Given the description of an element on the screen output the (x, y) to click on. 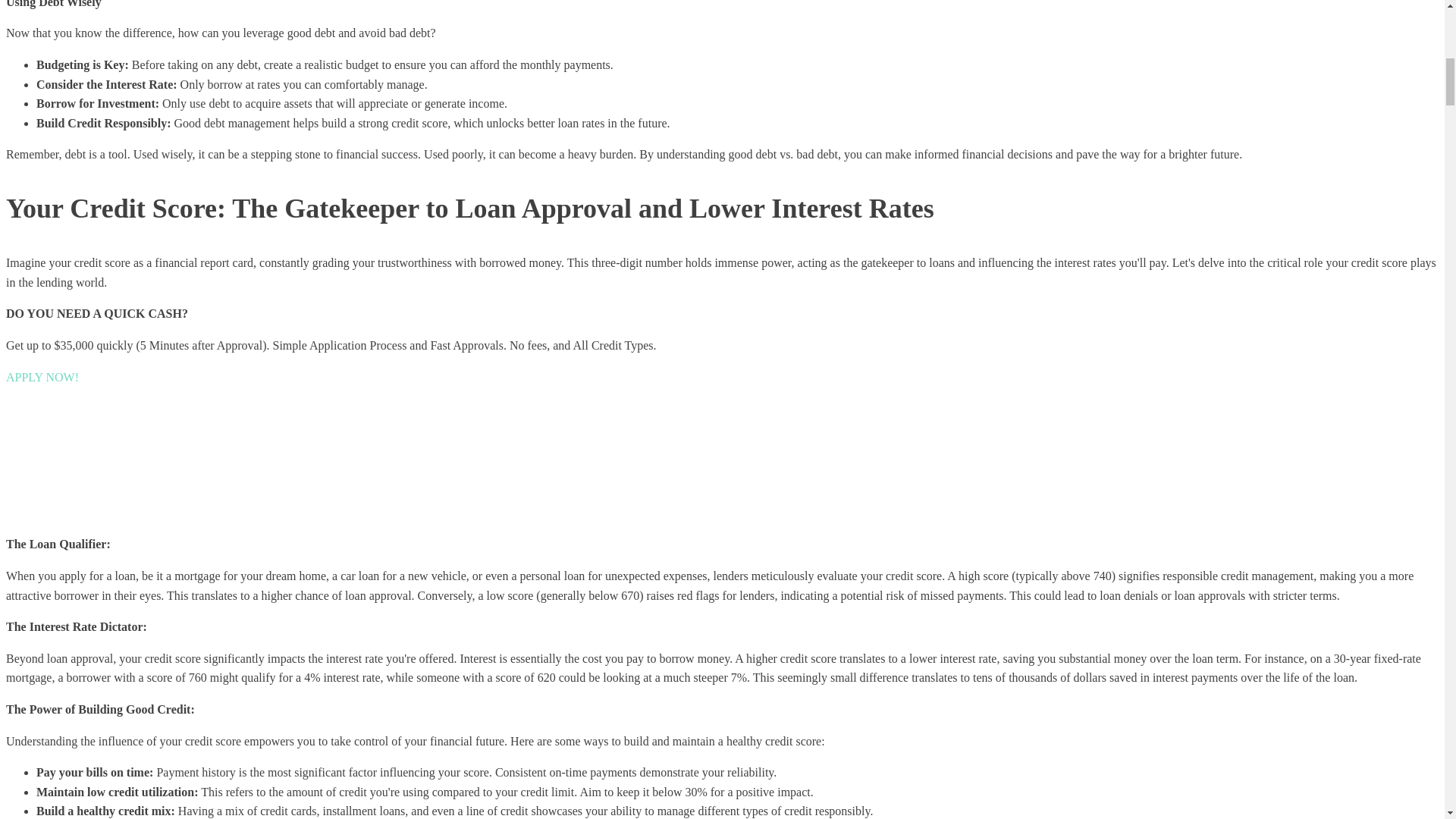
APPLY NOW! (41, 377)
